Given the description of an element on the screen output the (x, y) to click on. 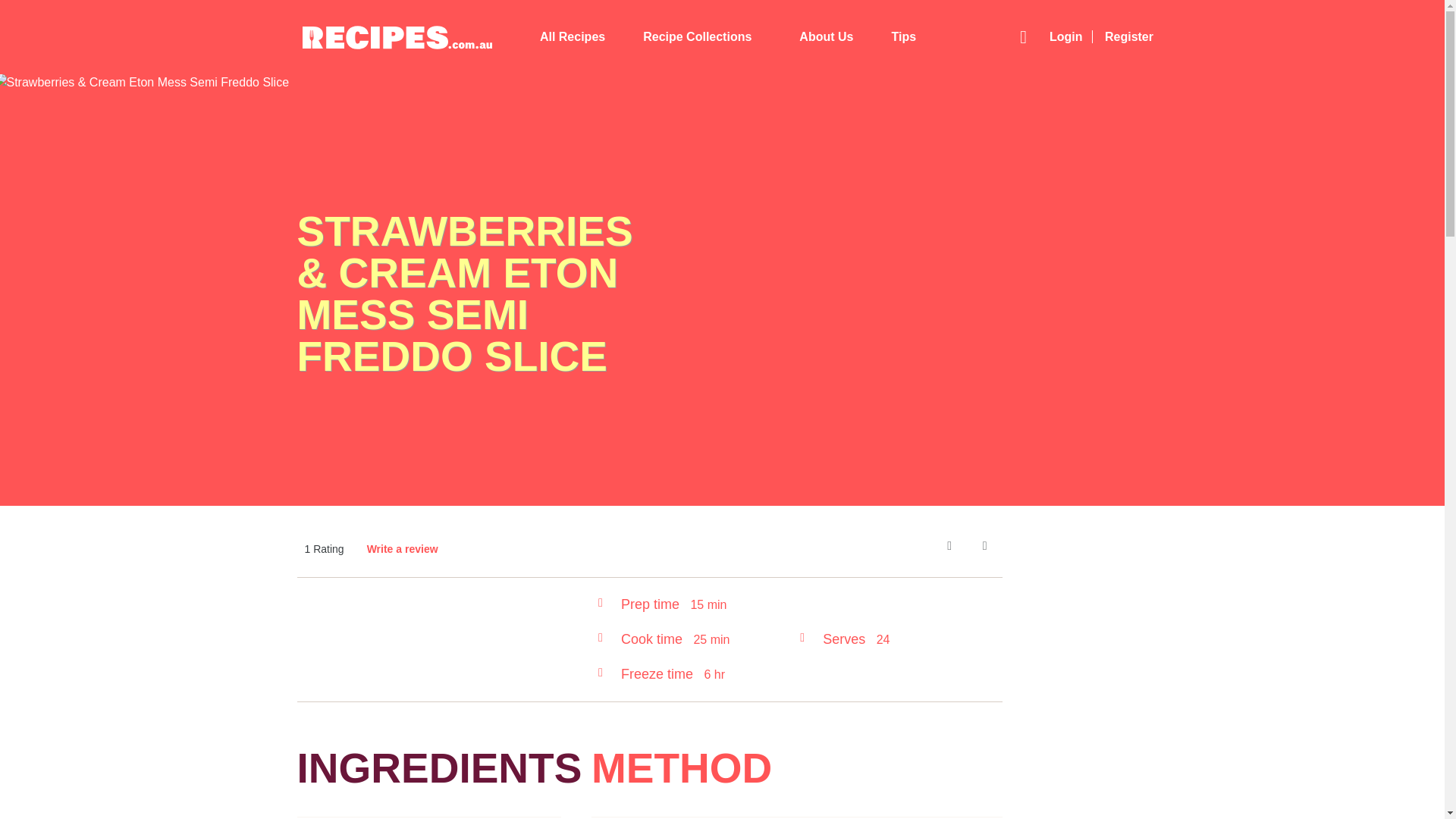
Login (1071, 36)
Register (1129, 36)
Tips (903, 37)
Recipe Collections (702, 37)
About Us (826, 37)
All Recipes (572, 37)
